Given the description of an element on the screen output the (x, y) to click on. 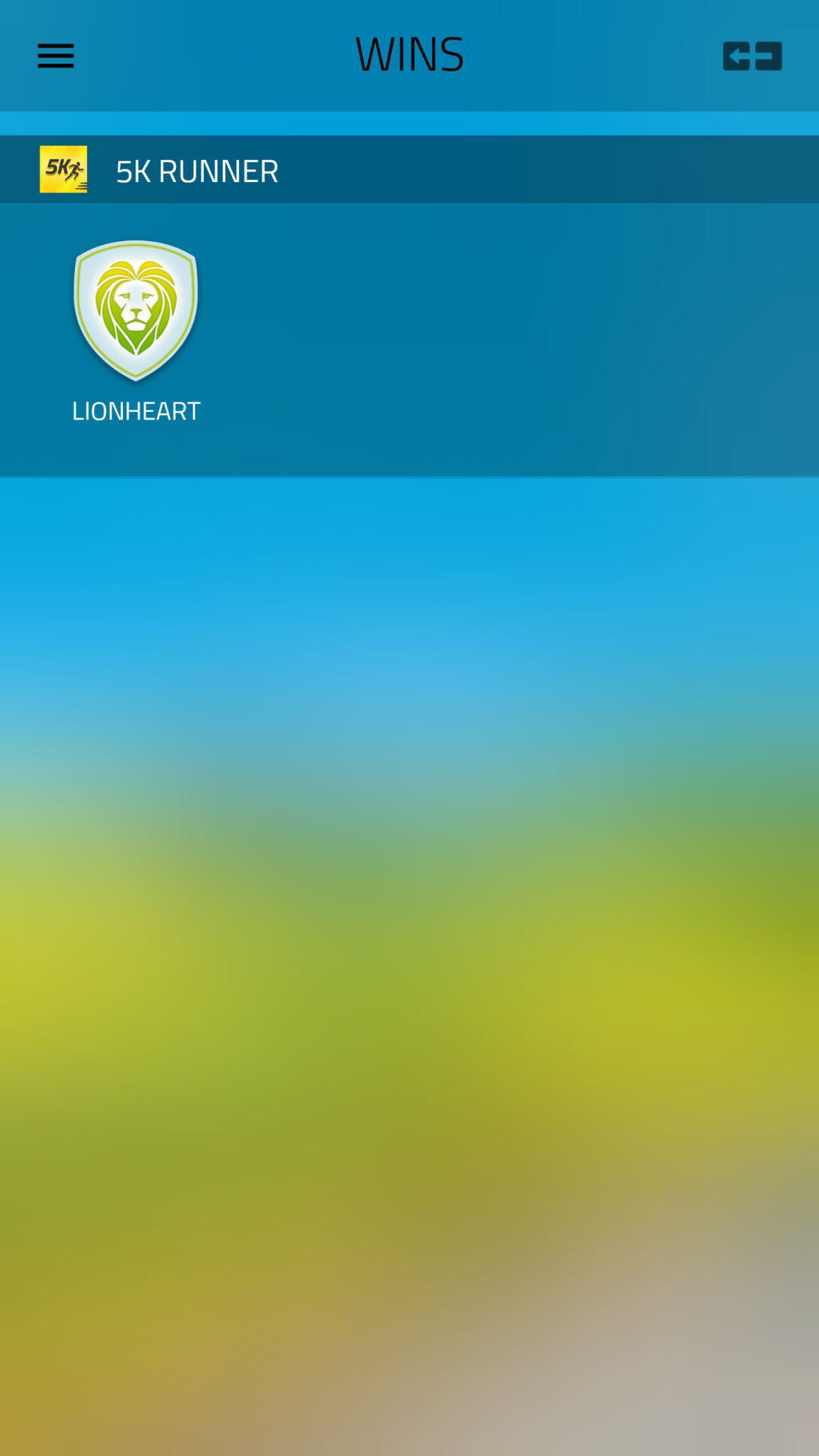
open the icon to the left of the 5k runner icon (63, 169)
